Given the description of an element on the screen output the (x, y) to click on. 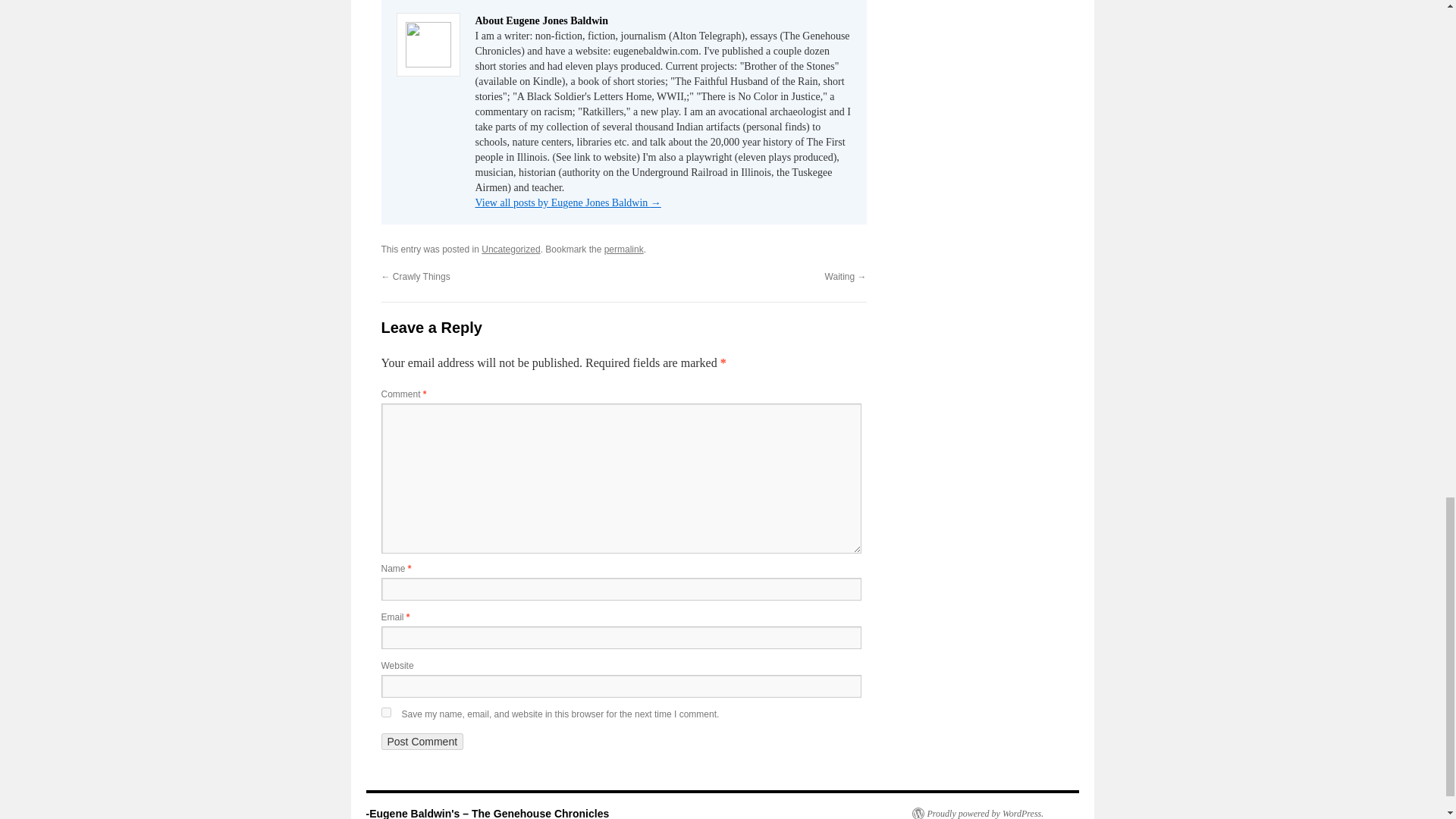
Uncategorized (510, 249)
yes (385, 712)
permalink (623, 249)
Permalink to Eden Redux (623, 249)
Post Comment (421, 741)
Post Comment (421, 741)
